Given the description of an element on the screen output the (x, y) to click on. 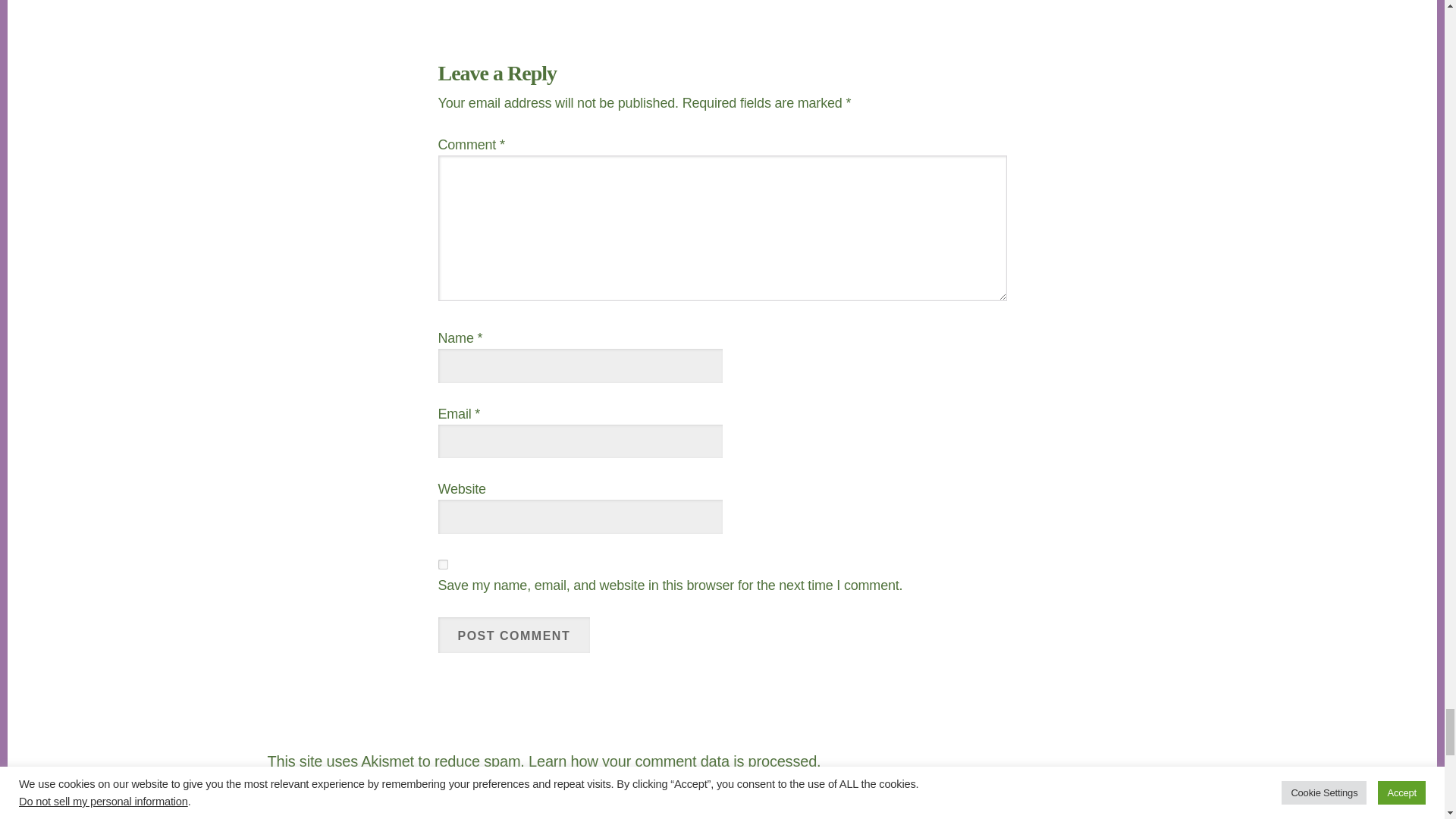
Post Comment (514, 634)
yes (443, 564)
